Given the description of an element on the screen output the (x, y) to click on. 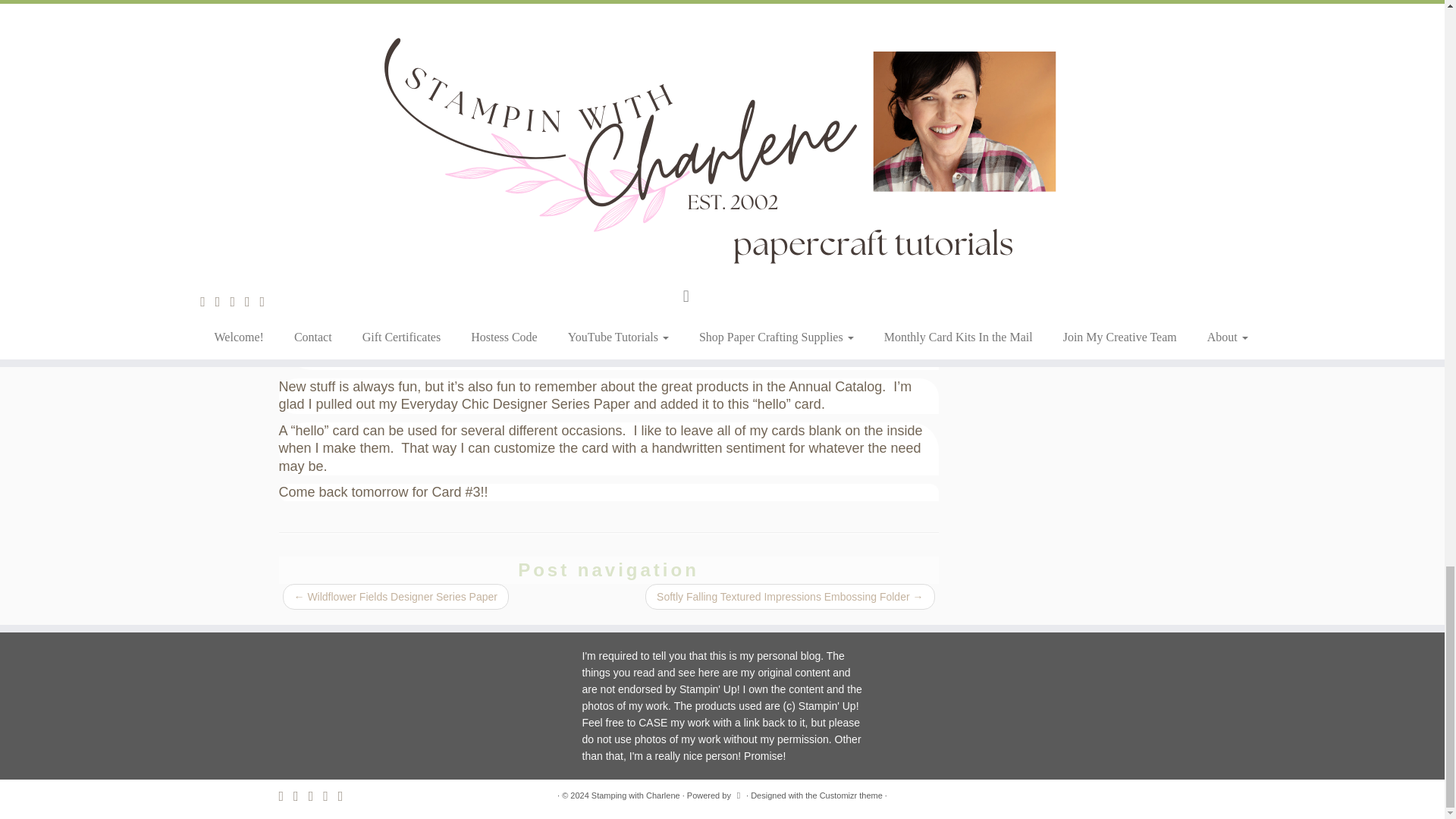
Subscribe to my rss feed (286, 796)
Follow us on Instagram (330, 796)
Follow us on Facebook (301, 796)
Follow us on Pinterest (315, 796)
wildflower fields designer series paper from stampin up (461, 136)
